Given the description of an element on the screen output the (x, y) to click on. 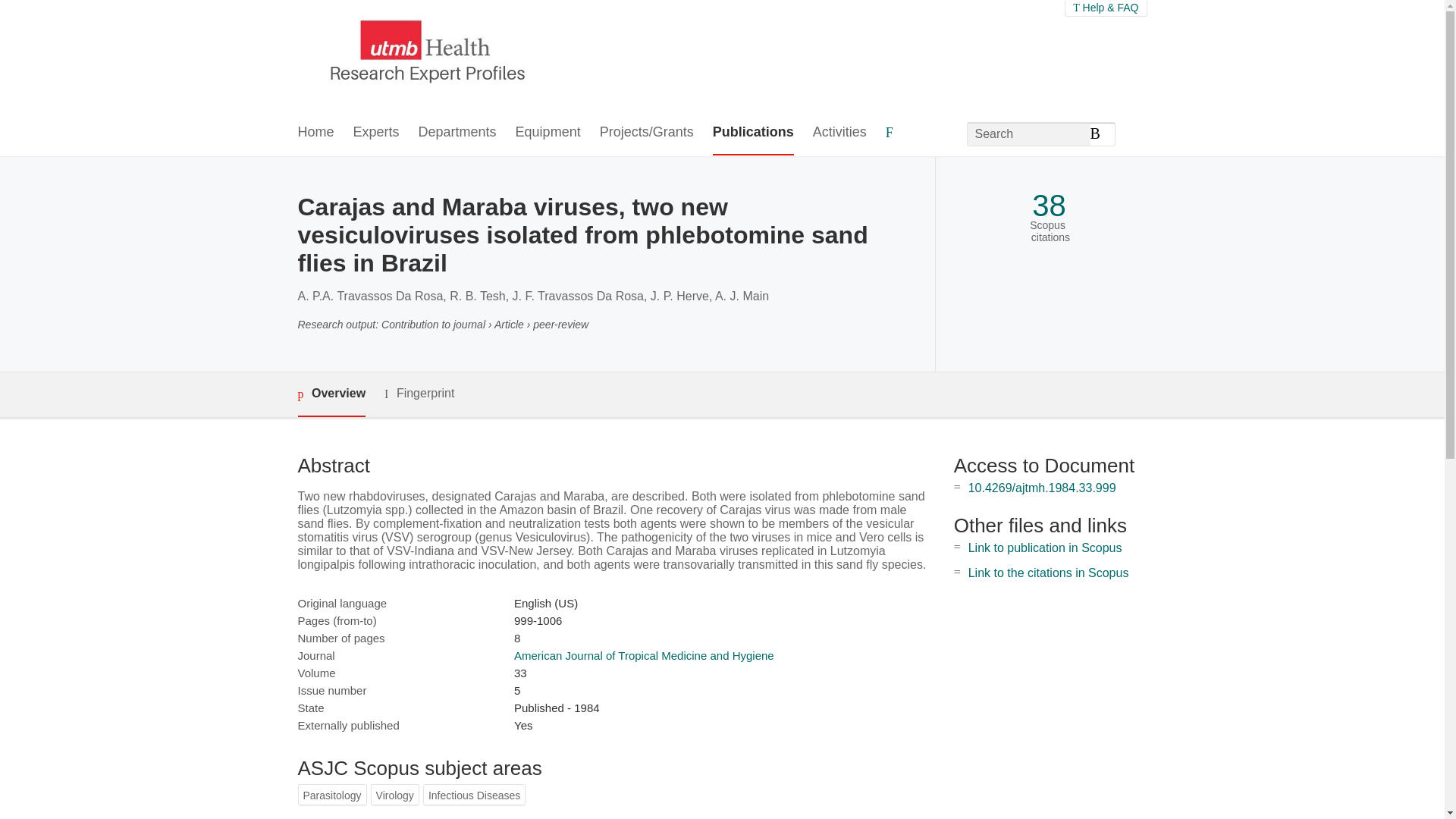
Equipment (547, 132)
Departments (457, 132)
Publications (753, 132)
Overview (331, 394)
American Journal of Tropical Medicine and Hygiene (643, 655)
UTMB Health Research Expert Profiles Home (424, 55)
Experts (375, 132)
Link to publication in Scopus (1045, 547)
Activities (839, 132)
Link to the citations in Scopus (1048, 572)
38 (1048, 205)
Fingerprint (419, 393)
